Given the description of an element on the screen output the (x, y) to click on. 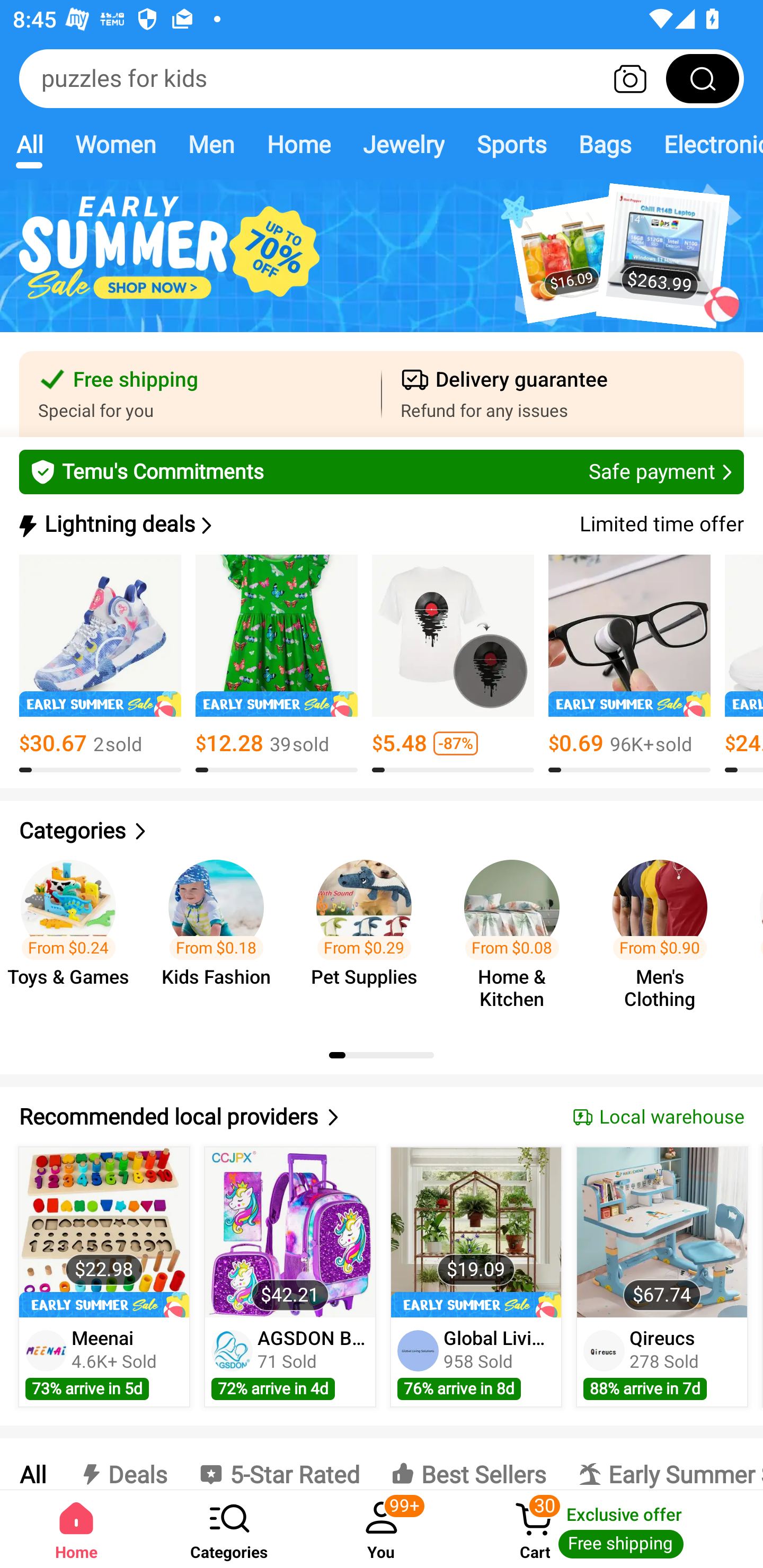
puzzles for kids (381, 78)
All (29, 144)
Women (115, 144)
Men (211, 144)
Home (298, 144)
Jewelry (403, 144)
Sports (511, 144)
Bags (605, 144)
Electronics (705, 144)
$16.09 $263.99 (381, 265)
Free shipping Special for you (200, 394)
Delivery guarantee Refund for any issues (562, 394)
Temu's Commitments (381, 471)
Lightning deals Lightning deals Limited time offer (379, 524)
$30.67 2￼sold 8.0 (100, 664)
$12.28 39￼sold 8.0 (276, 664)
$5.48 -87% 8.0 (453, 664)
$0.69 96K+￼sold 8.0 (629, 664)
Categories (381, 830)
From $0.24 Toys & Games (74, 936)
From $0.18 Kids Fashion (222, 936)
From $0.29 Pet Supplies (369, 936)
From $0.08 Home & Kitchen (517, 936)
From $0.90 Men's Clothing (665, 936)
$22.98 Meenai 4.6K+ Sold 73% arrive in 5d (103, 1276)
$42.21 AGSDON BAGS 71 Sold 72% arrive in 4d (289, 1276)
$67.74 Qireucs 278 Sold 88% arrive in 7d (661, 1276)
$22.98 (104, 1232)
$42.21 (290, 1232)
$19.09 (475, 1232)
$67.74 (661, 1232)
All (32, 1463)
Deals Deals Deals (122, 1463)
5-Star Rated 5-Star Rated 5-Star Rated (279, 1463)
Best Sellers Best Sellers Best Sellers (468, 1463)
Home (76, 1528)
Categories (228, 1528)
You ‎99+‎ You (381, 1528)
Cart 30 Cart Exclusive offer (610, 1528)
